Given the description of an element on the screen output the (x, y) to click on. 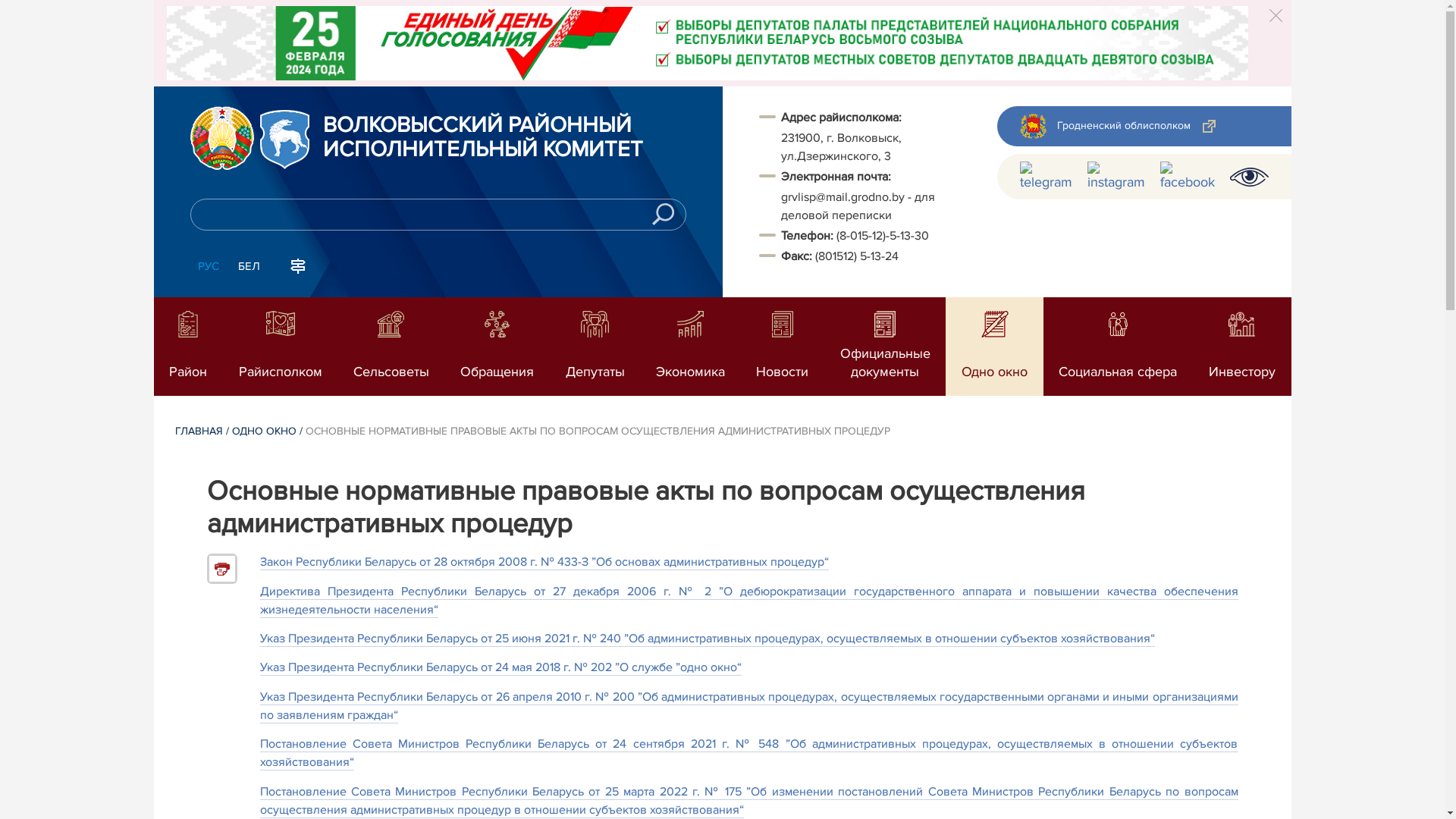
telegram Element type: hover (1045, 176)
instagram Element type: hover (1116, 176)
facebook Element type: hover (1187, 176)
